Given the description of an element on the screen output the (x, y) to click on. 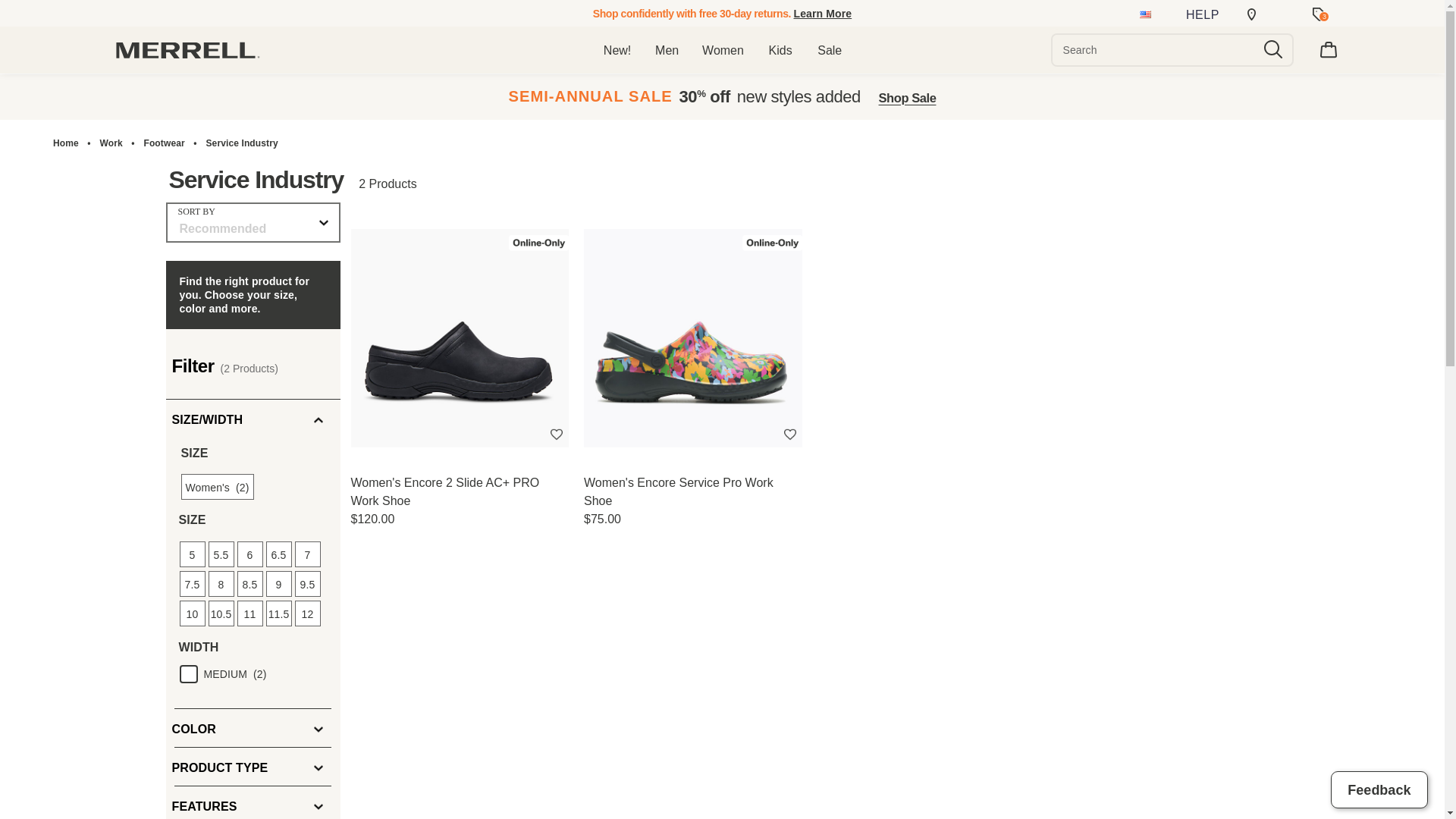
Merrell Home (187, 50)
HELP (1203, 13)
Learn More (822, 19)
Promotions (1319, 14)
